Given the description of an element on the screen output the (x, y) to click on. 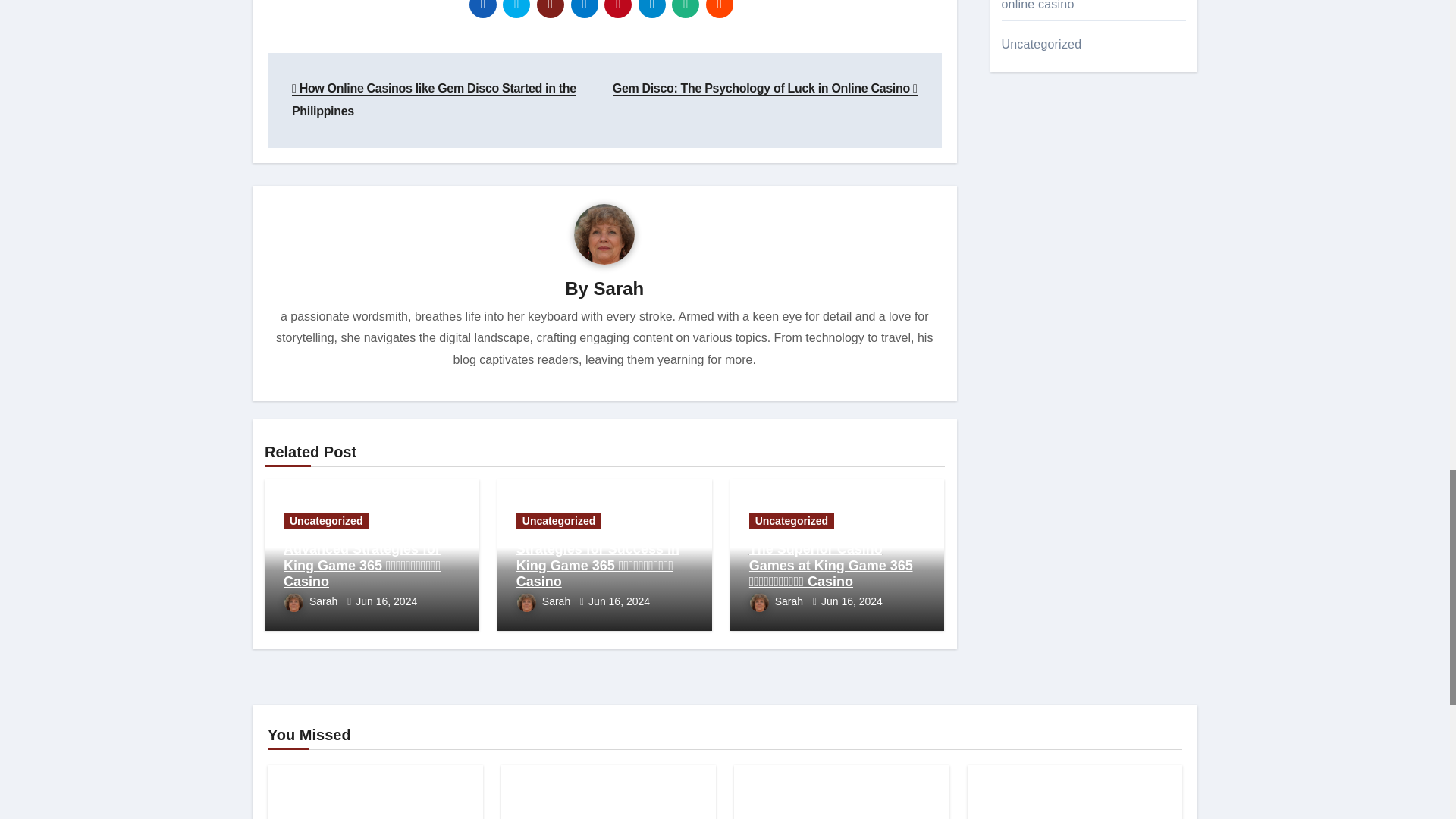
Sarah (311, 601)
Uncategorized (325, 520)
How Online Casinos like Gem Disco Started in the Philippines (434, 99)
Sarah (619, 288)
Gem Disco: The Psychology of Luck in Online Casino (764, 88)
